Given the description of an element on the screen output the (x, y) to click on. 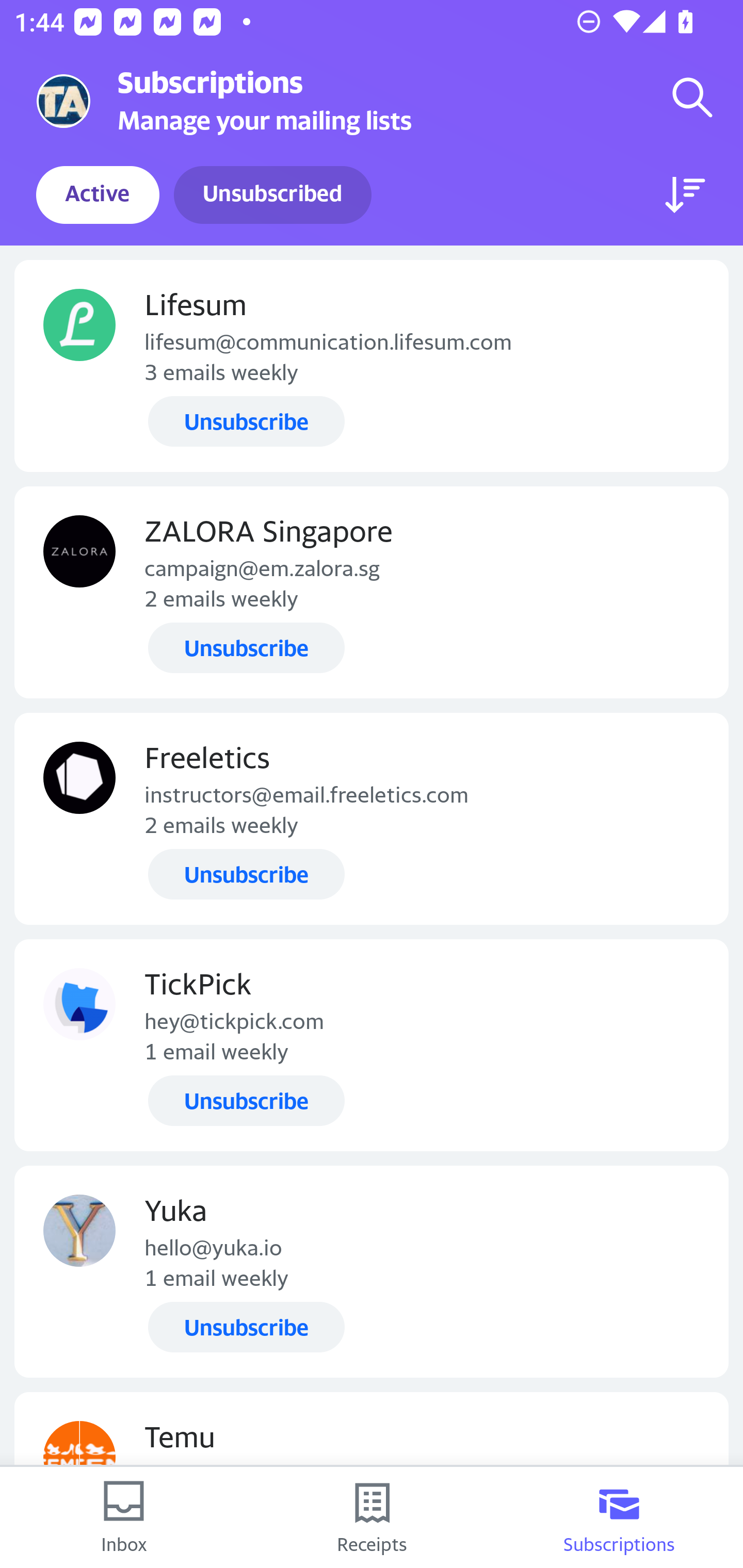
Search mail (692, 97)
Unsubscribed (272, 195)
Sort (684, 195)
Unsubscribe (245, 421)
Unsubscribe (245, 647)
Unsubscribe (245, 874)
Unsubscribe (245, 1100)
Yuka hello@yuka.io 1 email weekly Unsubscribe (371, 1271)
Unsubscribe (245, 1326)
Inbox (123, 1517)
Receipts (371, 1517)
Subscriptions (619, 1517)
